Given the description of an element on the screen output the (x, y) to click on. 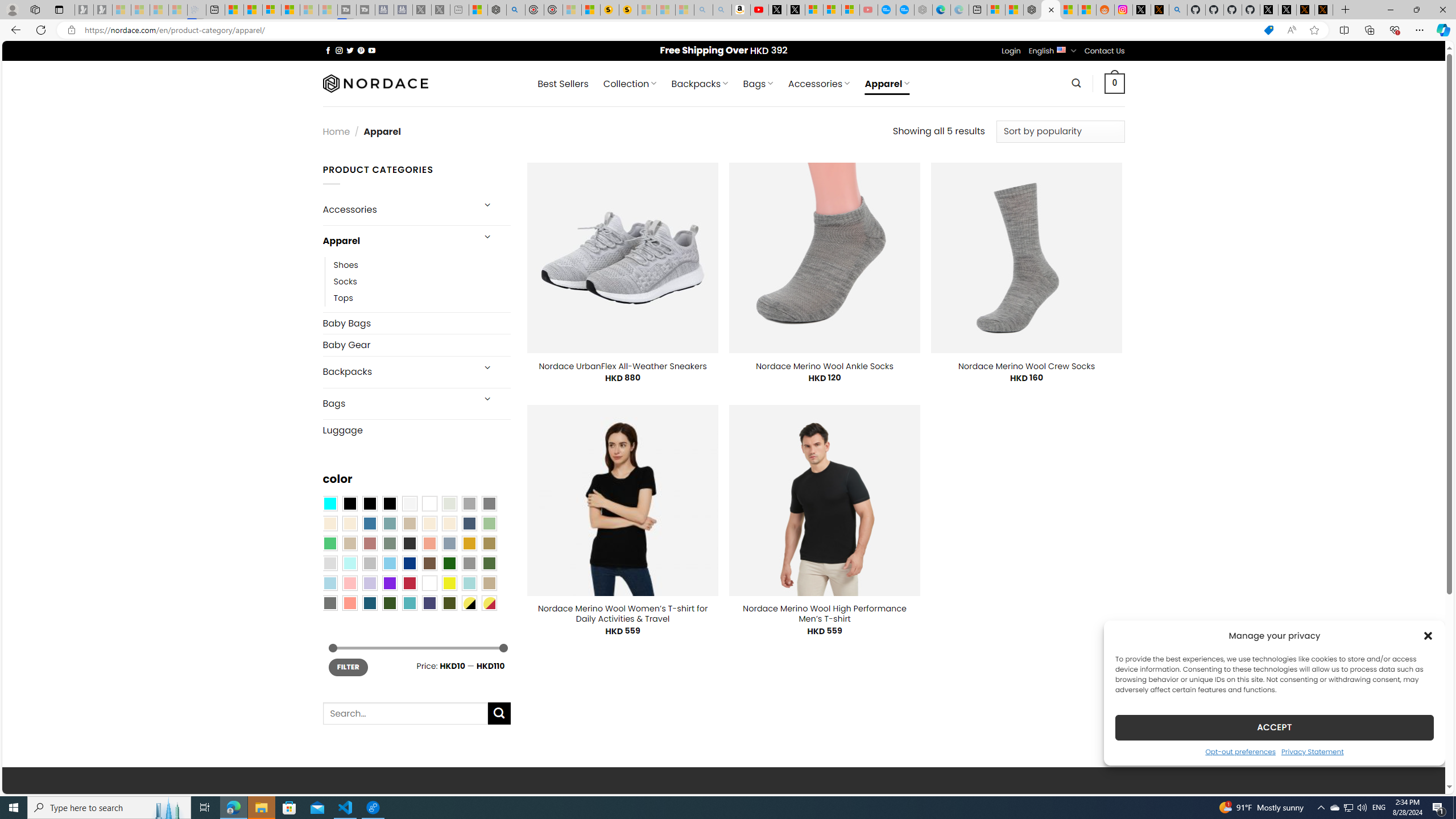
Blue Sage (389, 522)
Follow on Pinterest (360, 49)
Opt-out preferences (1240, 750)
Navy Blue (408, 562)
Peach Pink (349, 602)
Charcoal (408, 542)
 0  (1115, 83)
Purple Navy (429, 602)
